Given the description of an element on the screen output the (x, y) to click on. 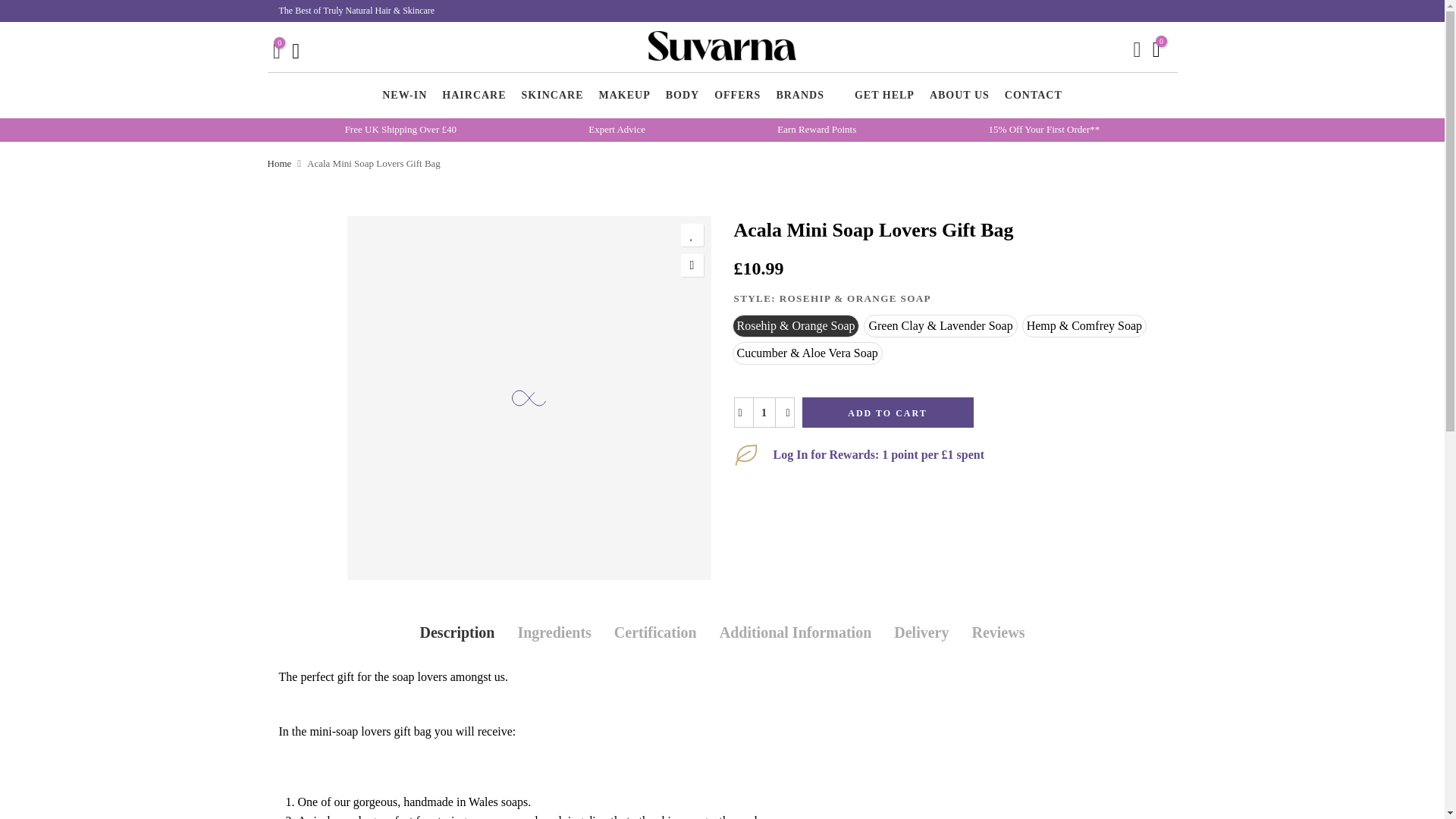
SKINCARE (552, 94)
0 (1156, 51)
HAIRCARE (473, 94)
1 (763, 413)
NEW-IN (403, 94)
0 (277, 52)
